Given the description of an element on the screen output the (x, y) to click on. 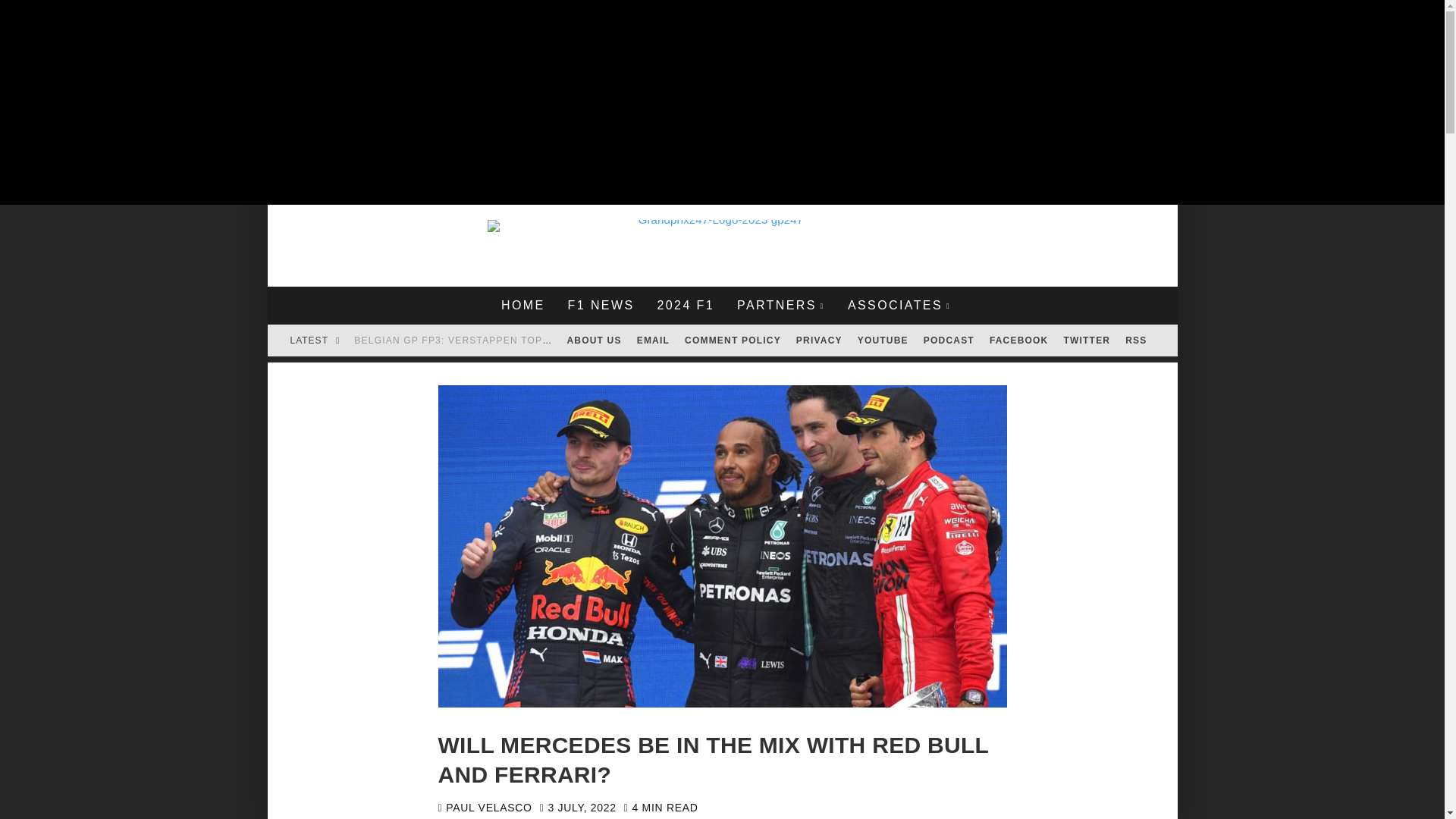
F1 NEWS (601, 305)
HOME (522, 305)
BELGIAN GP FP3: VERSTAPPEN TOPS RAIN-SHORTENED SESSION (525, 339)
ASSOCIATES (898, 305)
PRIVACY (819, 340)
YOUTUBE (882, 340)
PODCAST (948, 340)
COMMENT POLICY (733, 340)
EMAIL (652, 340)
TWITTER (1086, 340)
ABOUT US (593, 340)
PARTNERS (780, 305)
Belgian GP FP3: Verstappen tops rain-shortened session (525, 339)
FACEBOOK (1019, 340)
Twitter GrandPrix247 (1086, 340)
